Given the description of an element on the screen output the (x, y) to click on. 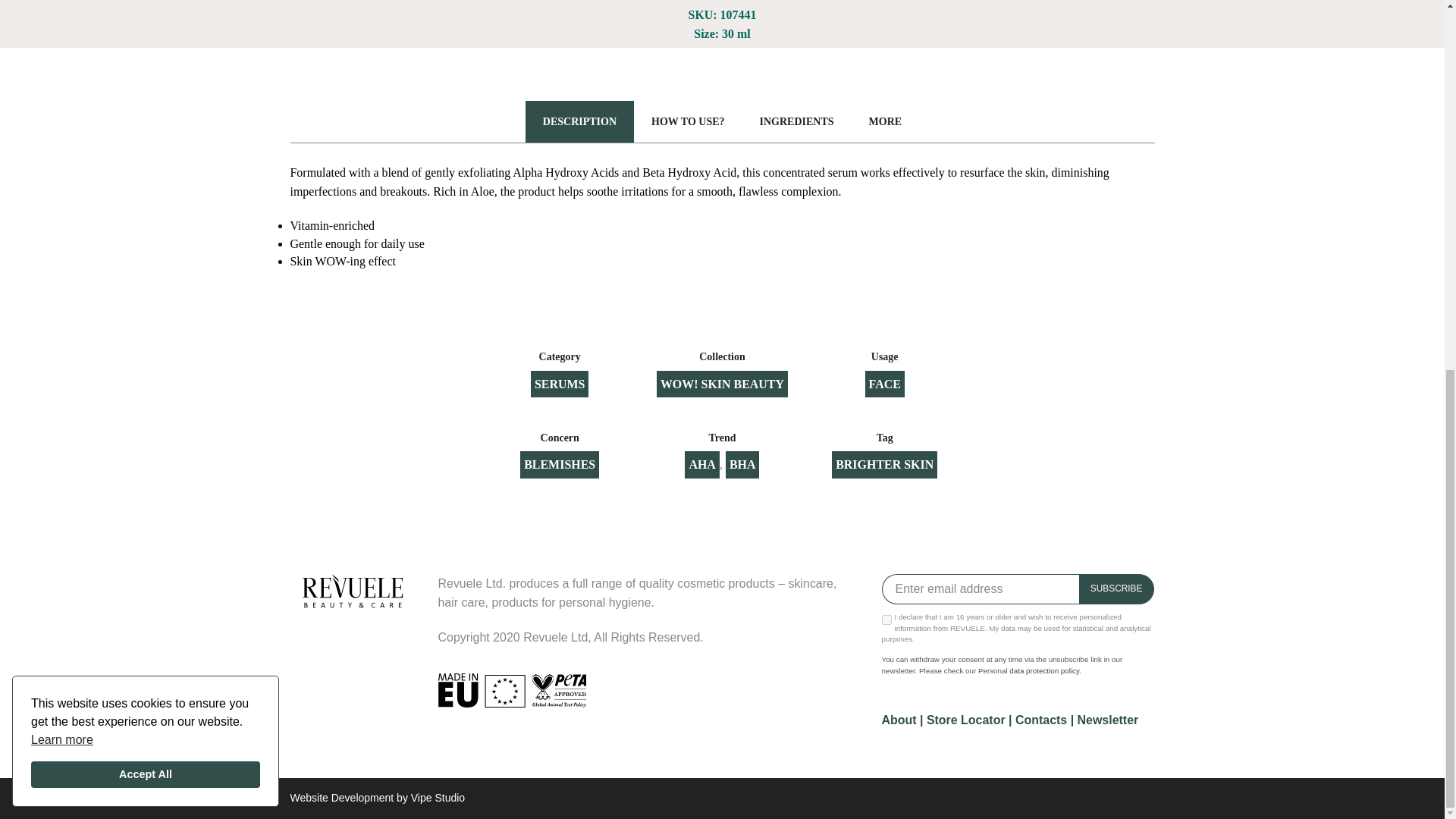
Subscribe (1116, 589)
Accept All (145, 102)
Learn more (61, 67)
1 (885, 619)
